Given the description of an element on the screen output the (x, y) to click on. 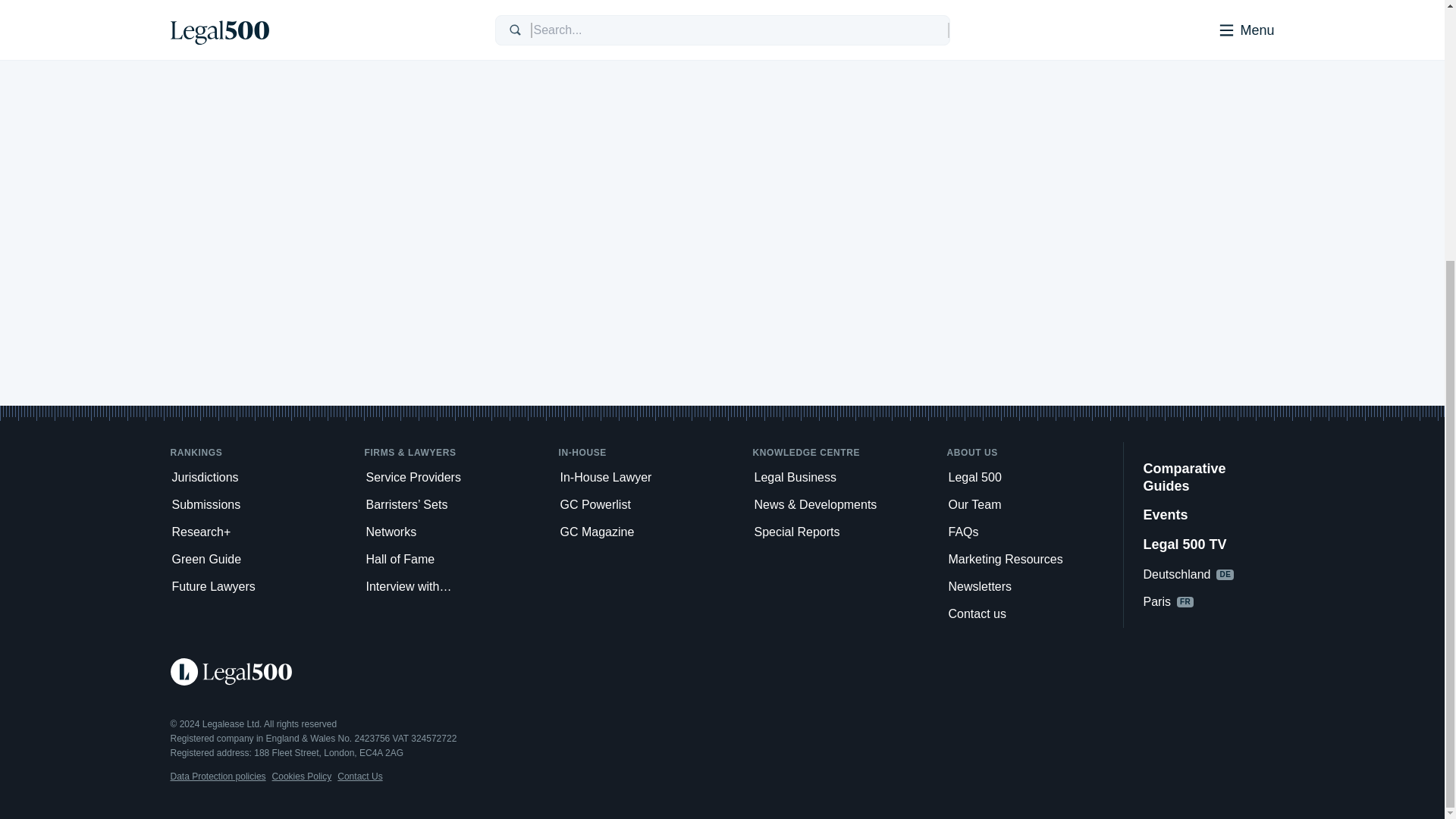
Jurisdictions (258, 477)
Green Guide (258, 559)
Submissions (258, 504)
Future Lawyers (258, 586)
